Given the description of an element on the screen output the (x, y) to click on. 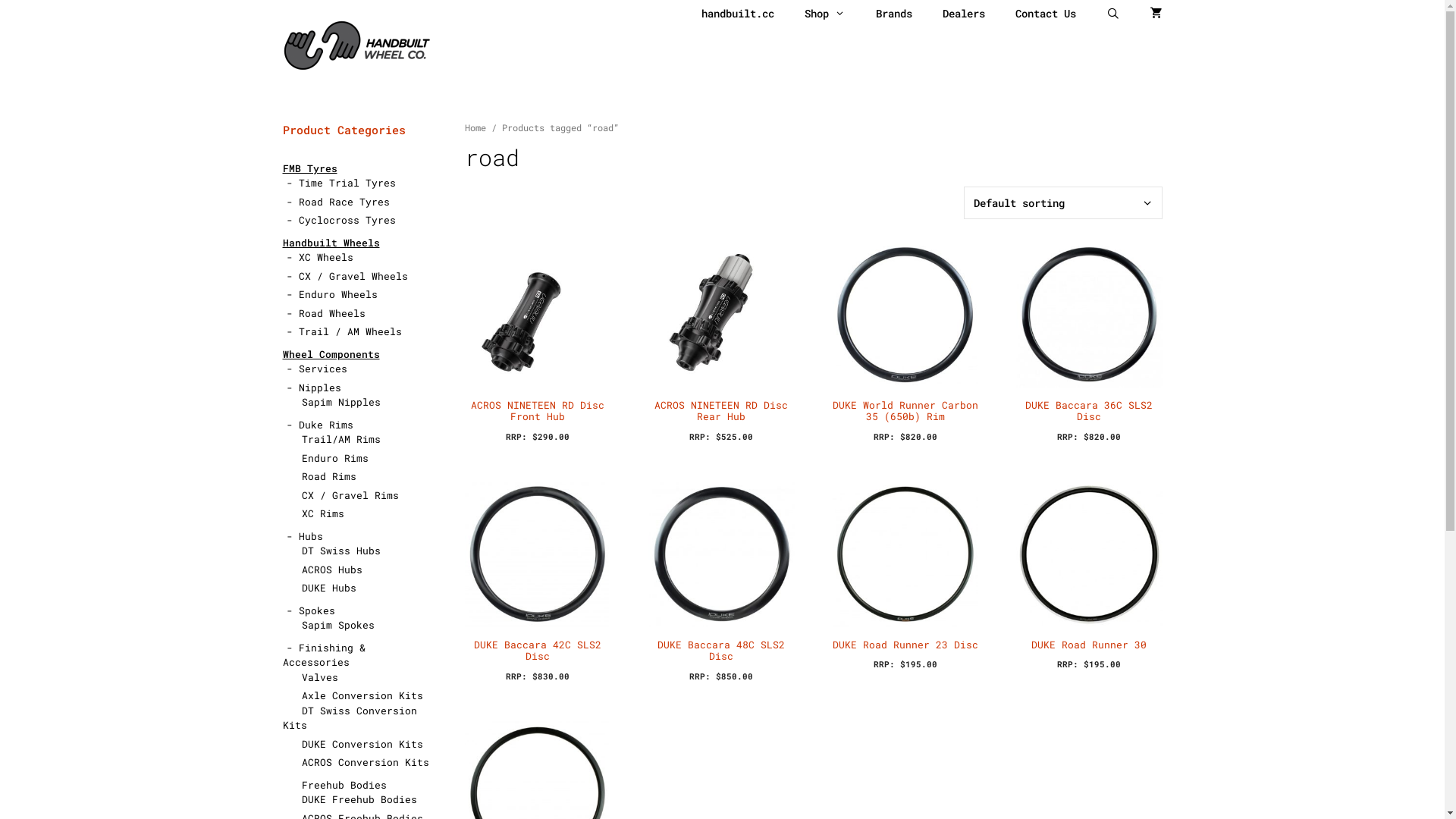
ACROS NINETEEN RD Disc Rear Hub
RRP: $525.00 Element type: text (721, 342)
Time Trial Tyres Element type: text (346, 182)
Hubs Element type: text (310, 535)
Home Element type: text (474, 127)
Trail / AM Wheels Element type: text (349, 331)
Dealers Element type: text (962, 13)
Shop Element type: text (824, 13)
Valves Element type: text (319, 677)
Enduro Rims Element type: text (334, 457)
Trail/AM Rims Element type: text (340, 438)
DT Swiss Conversion Kits Element type: text (349, 717)
handbuilt.cc Element type: text (737, 13)
Duke Rims Element type: text (325, 423)
DUKE Baccara 36C SLS2 Disc
RRP: $820.00 Element type: text (1089, 342)
Brands Element type: text (892, 13)
Spokes Element type: text (316, 610)
Freehub Bodies Element type: text (343, 784)
Cyclocross Tyres Element type: text (346, 219)
Contact Us Element type: text (1044, 13)
Wheel Components Element type: text (330, 353)
DUKE Baccara 48C SLS2 Disc
RRP: $850.00 Element type: text (721, 582)
DUKE World Runner Carbon 35 (650b) Rim
RRP: $820.00 Element type: text (905, 342)
Handbuilt Wheels Element type: text (330, 241)
Road Rims Element type: text (328, 476)
Nipples Element type: text (319, 387)
ACROS Conversion Kits Element type: text (365, 761)
Axle Conversion Kits Element type: text (362, 695)
Road Wheels Element type: text (331, 313)
Services Element type: text (322, 368)
DUKE Road Runner 30
RRP: $195.00 Element type: text (1089, 576)
ACROS NINETEEN RD Disc Front Hub
RRP: $290.00 Element type: text (537, 342)
CX / Gravel Rims Element type: text (349, 495)
DUKE Conversion Kits Element type: text (362, 743)
DT Swiss Hubs Element type: text (340, 550)
DUKE Baccara 42C SLS2 Disc
RRP: $830.00 Element type: text (537, 582)
ACROS Hubs Element type: text (331, 569)
Finishing & Accessories Element type: text (323, 654)
CX / Gravel Wheels Element type: text (352, 275)
DUKE Hubs Element type: text (328, 587)
Road Race Tyres Element type: text (343, 200)
Sapim Nipples Element type: text (340, 401)
XC Wheels Element type: text (325, 256)
DUKE Freehub Bodies Element type: text (359, 799)
Enduro Wheels Element type: text (337, 294)
XC Rims Element type: text (322, 513)
Sapim Spokes Element type: text (337, 624)
DUKE Road Runner 23 Disc
RRP: $195.00 Element type: text (905, 576)
View your shopping cart Element type: hover (1155, 13)
FMB Tyres Element type: text (309, 167)
